Given the description of an element on the screen output the (x, y) to click on. 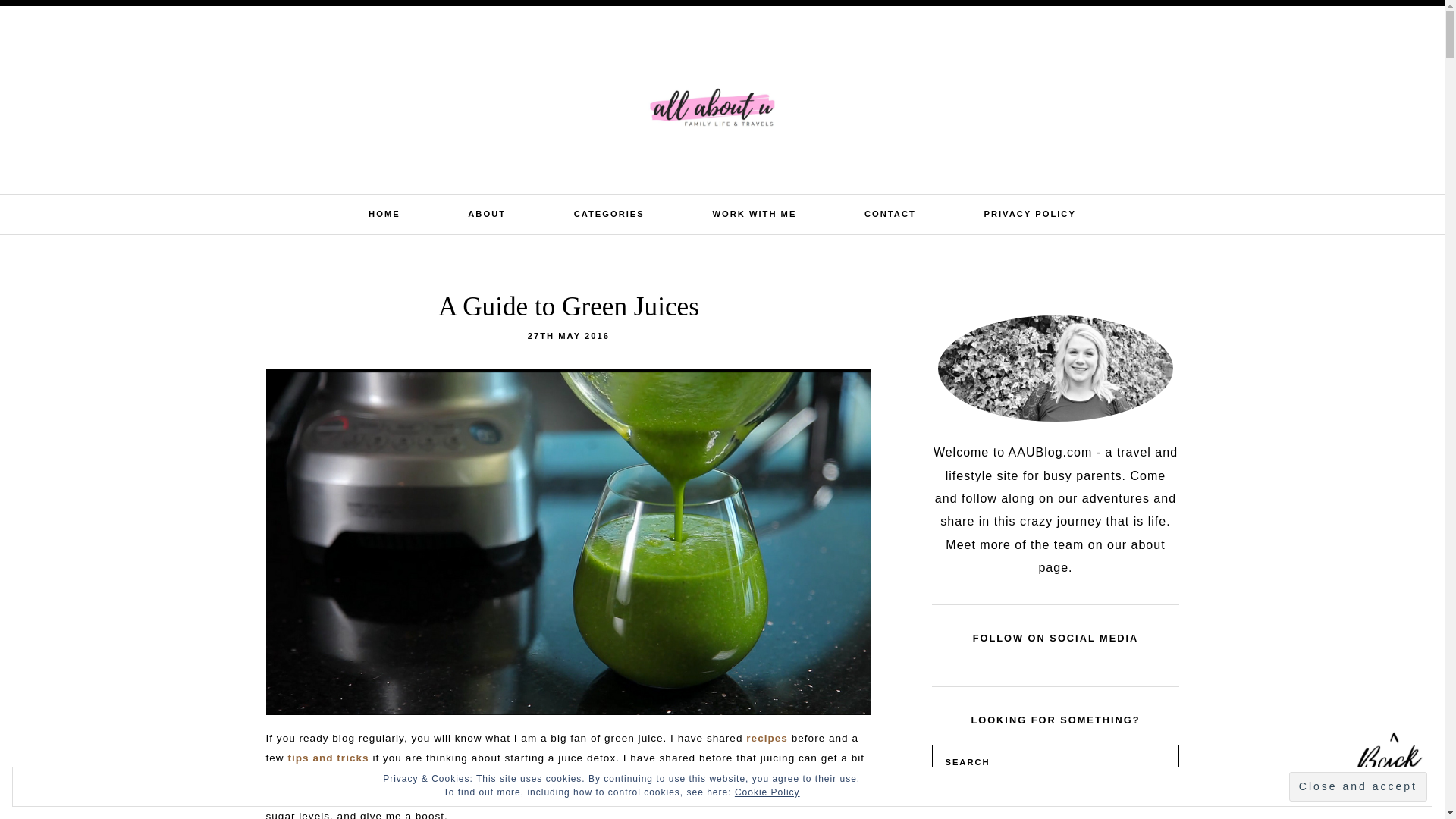
WORK WITH ME (753, 214)
ABOUT (486, 214)
PRIVACY POLICY (1029, 214)
CATEGORIES (609, 214)
Search for: (1319, 23)
Close and accept (1357, 786)
CONTACT (889, 214)
